Given the description of an element on the screen output the (x, y) to click on. 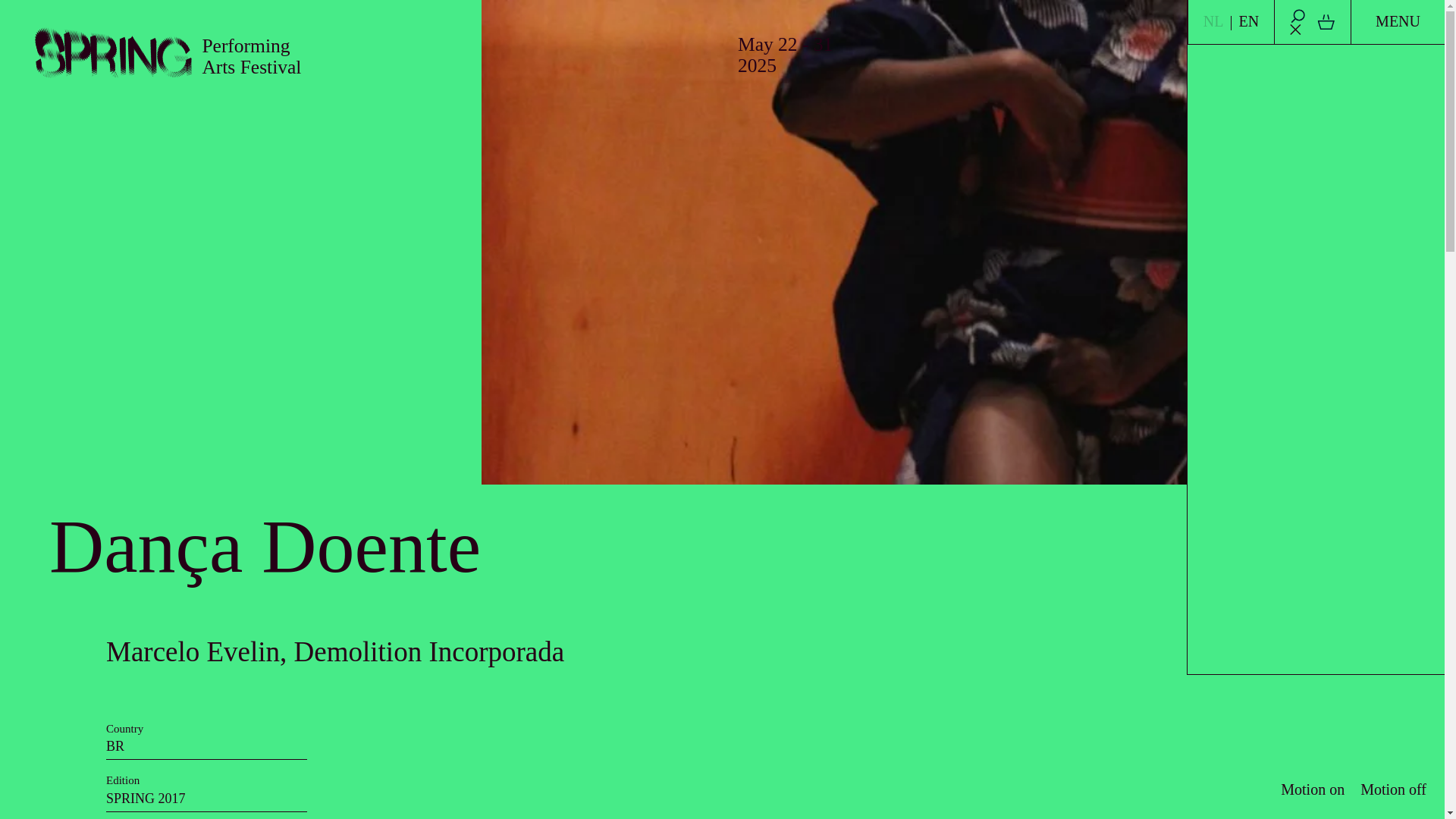
EN (1249, 21)
Skip to content (721, 11)
NL (1214, 21)
